Given the description of an element on the screen output the (x, y) to click on. 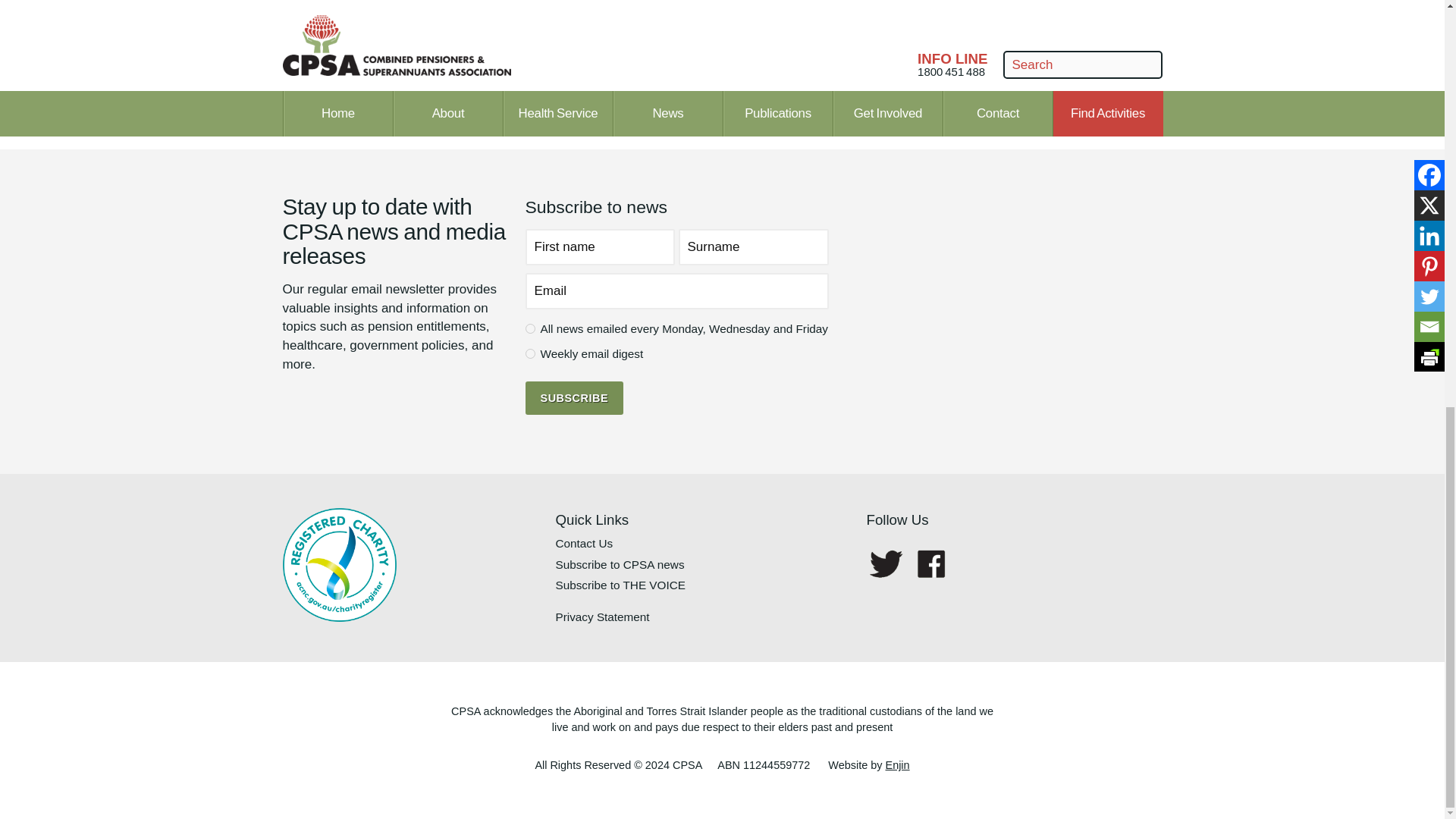
All updates (529, 328)
Privacy Statement (702, 617)
WordPress website designed and developed by Enjin (897, 765)
Enjin (897, 765)
Subscribe to THE VOICE (702, 585)
Subscribe to CPSA news (702, 564)
Weekly digest (529, 353)
Contact Us (702, 543)
Subscribe (573, 397)
Subscribe (573, 397)
